Given the description of an element on the screen output the (x, y) to click on. 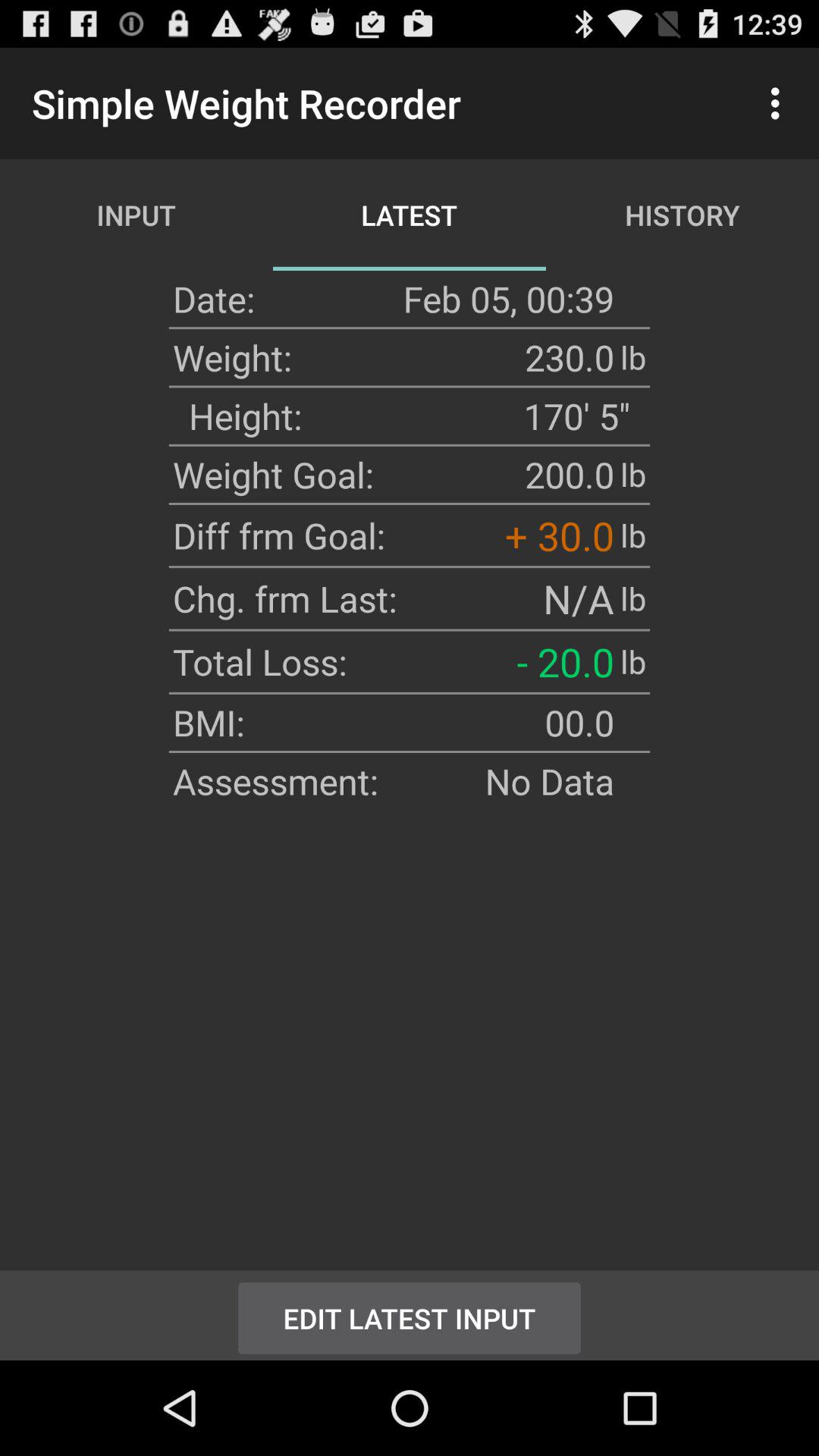
turn on app above history icon (779, 103)
